Given the description of an element on the screen output the (x, y) to click on. 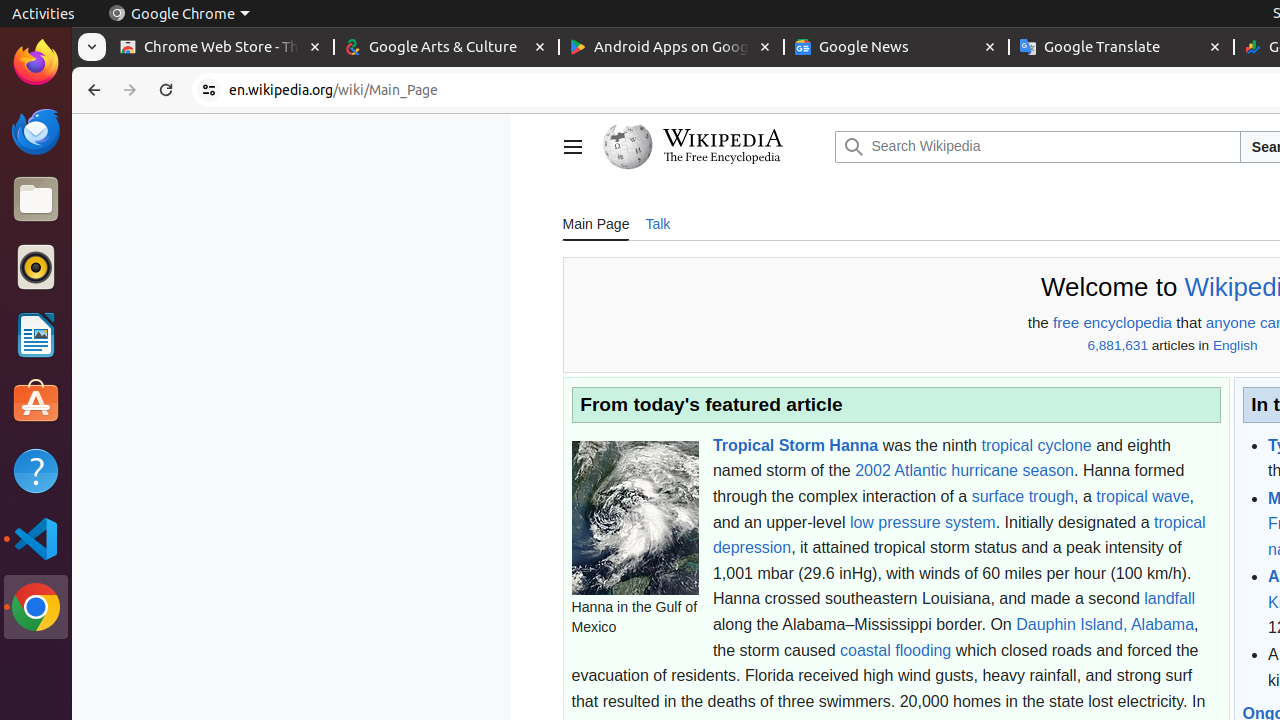
Google Chrome Element type: push-button (36, 607)
Google Chrome Element type: menu (179, 13)
tropical depression Element type: link (959, 535)
tropical wave Element type: link (1143, 495)
Google Arts & Culture - Memory usage - 122 MB Element type: page-tab (446, 47)
